Given the description of an element on the screen output the (x, y) to click on. 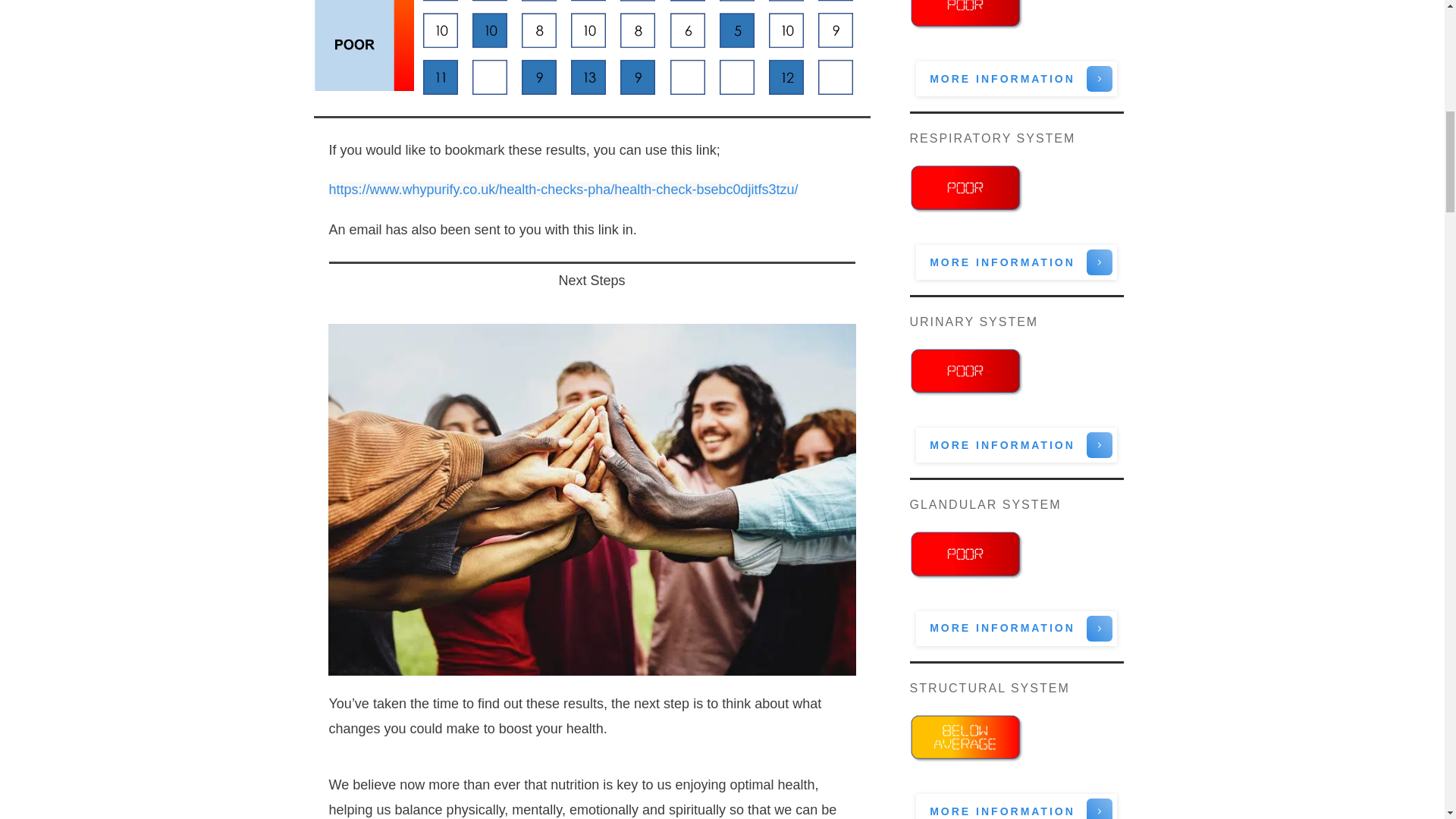
MORE INFORMATION (1015, 806)
MORE INFORMATION (1015, 444)
MORE INFORMATION (1015, 78)
MORE INFORMATION (1015, 262)
MORE INFORMATION (1015, 628)
